Given the description of an element on the screen output the (x, y) to click on. 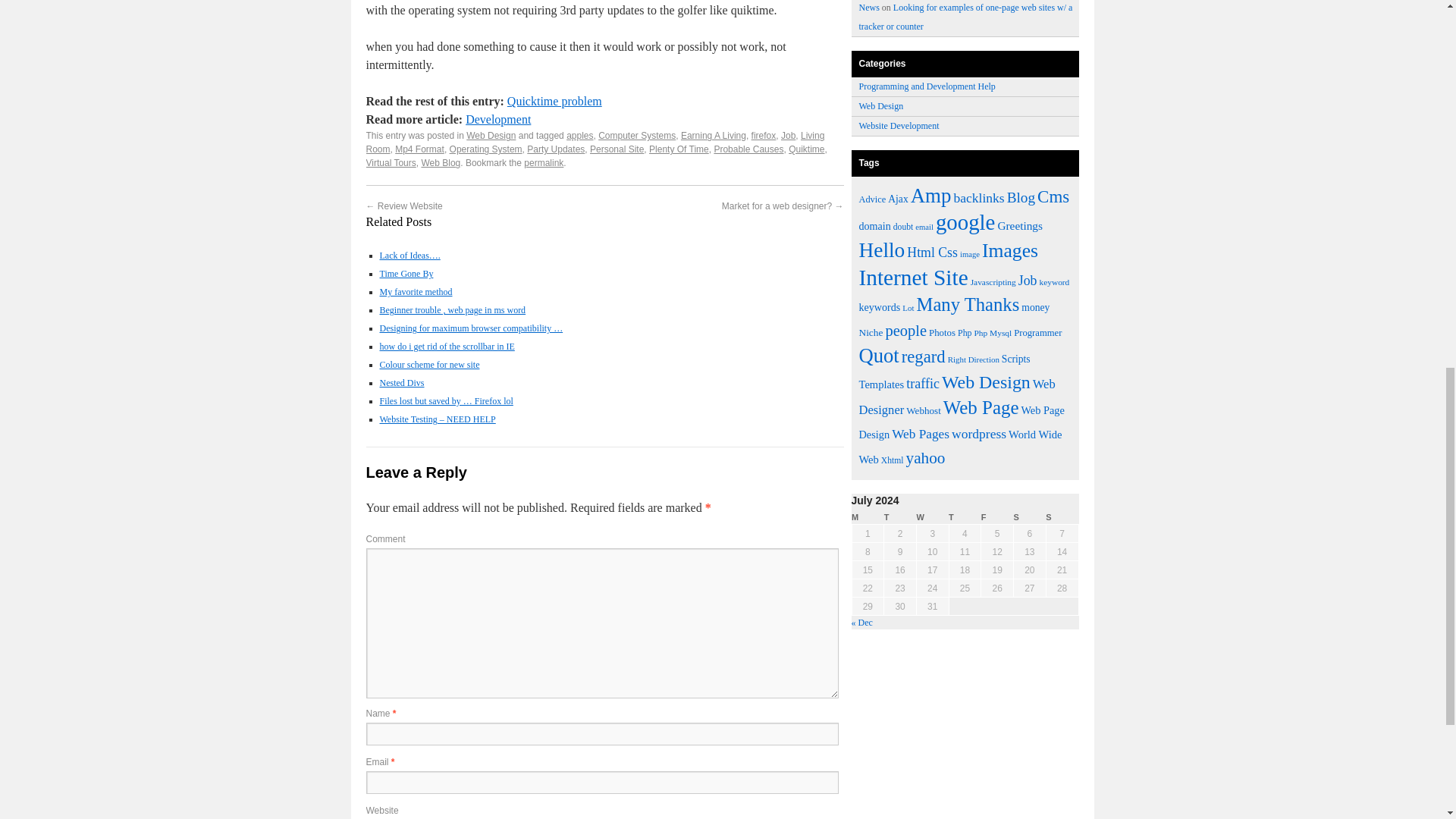
Beginner  trouble , web page in ms word  (451, 309)
Mp4 Format (419, 149)
apples (579, 135)
Computer Systems (636, 135)
Living Room (594, 142)
Plenty Of Time (679, 149)
permalink (543, 163)
Time Gone By  (405, 273)
Quiktime (806, 149)
Nested Divs  (400, 382)
Permalink to Quicktime problem (543, 163)
Colour scheme for new site (428, 364)
Web Blog (440, 163)
Operating System (485, 149)
Web Design (490, 135)
